Given the description of an element on the screen output the (x, y) to click on. 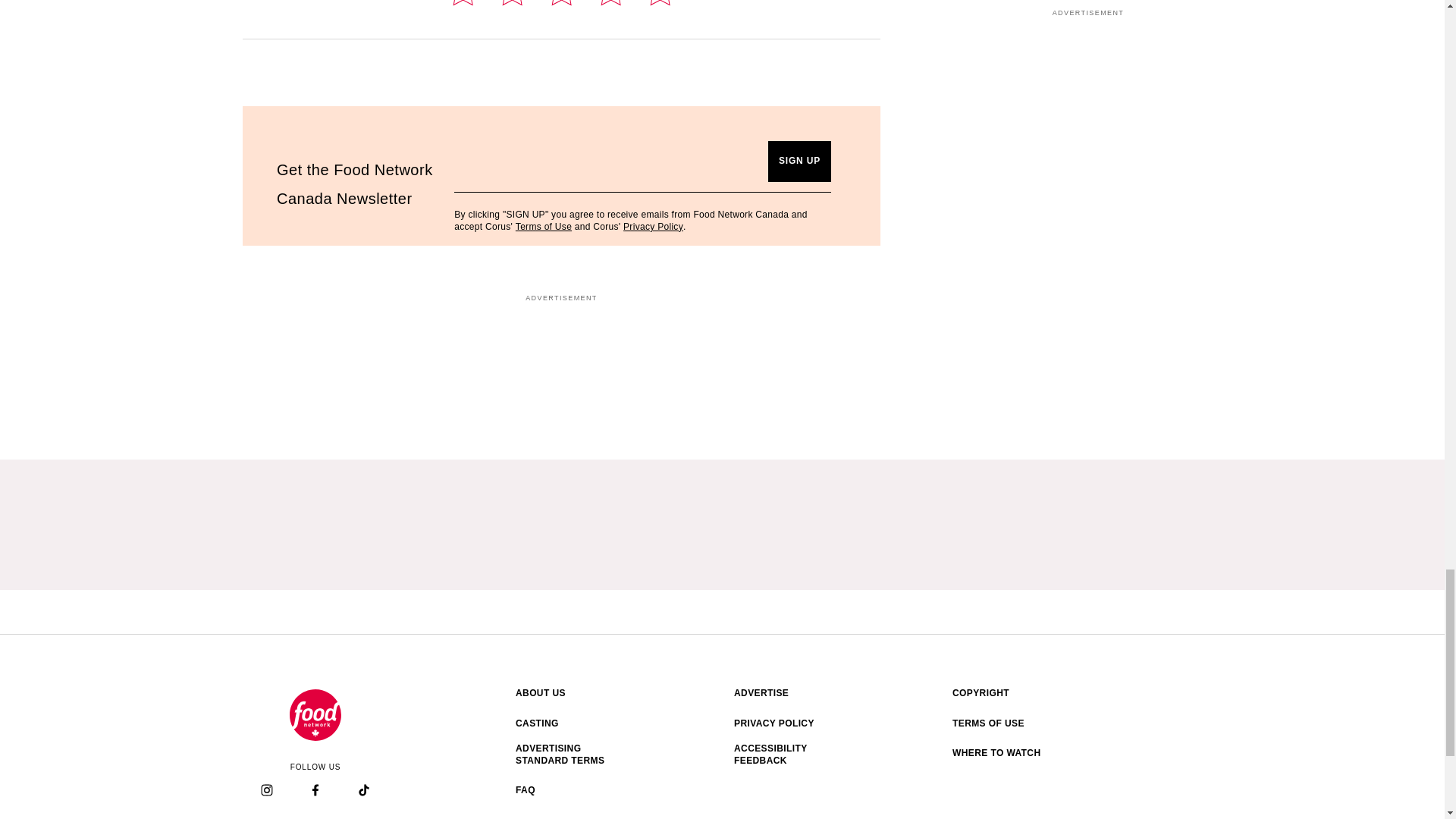
Instagram (266, 790)
Privacy Policy (652, 226)
Follow Food Network Canada on Instagram (267, 791)
Terms of Use (543, 226)
SIGN UP (799, 160)
SIGN UP (799, 160)
ABOUT US (565, 693)
Follow Food Network Canada on Facebook (315, 791)
Food Network Canada home (314, 715)
